Given the description of an element on the screen output the (x, y) to click on. 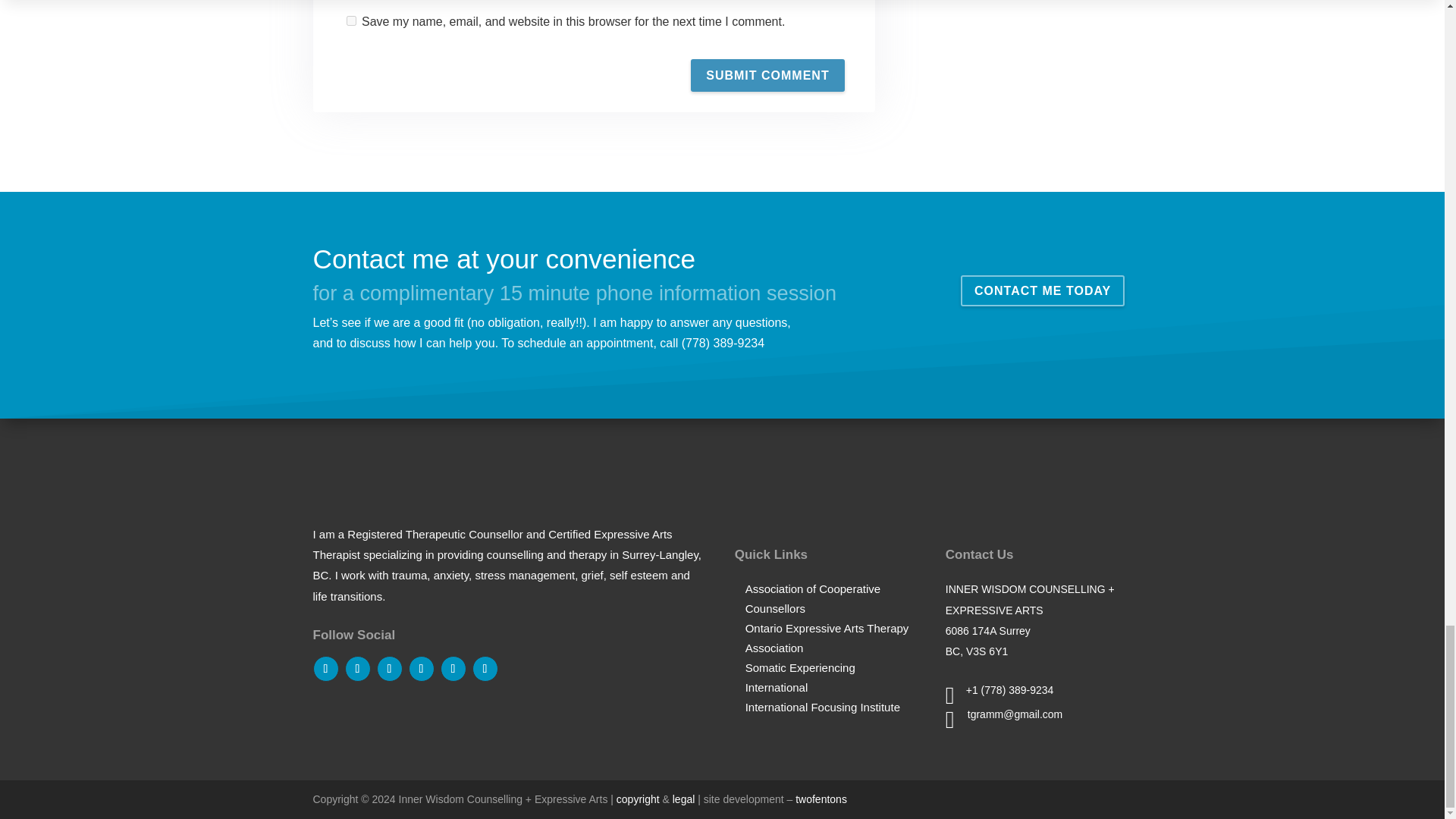
Follow on Pinterest (452, 668)
Follow on Instagram (420, 668)
Follow on Youtube (484, 668)
yes (350, 20)
Follow on X (356, 668)
Follow on LinkedIn (388, 668)
Submit Comment (767, 74)
Follow on Facebook (325, 668)
